Given the description of an element on the screen output the (x, y) to click on. 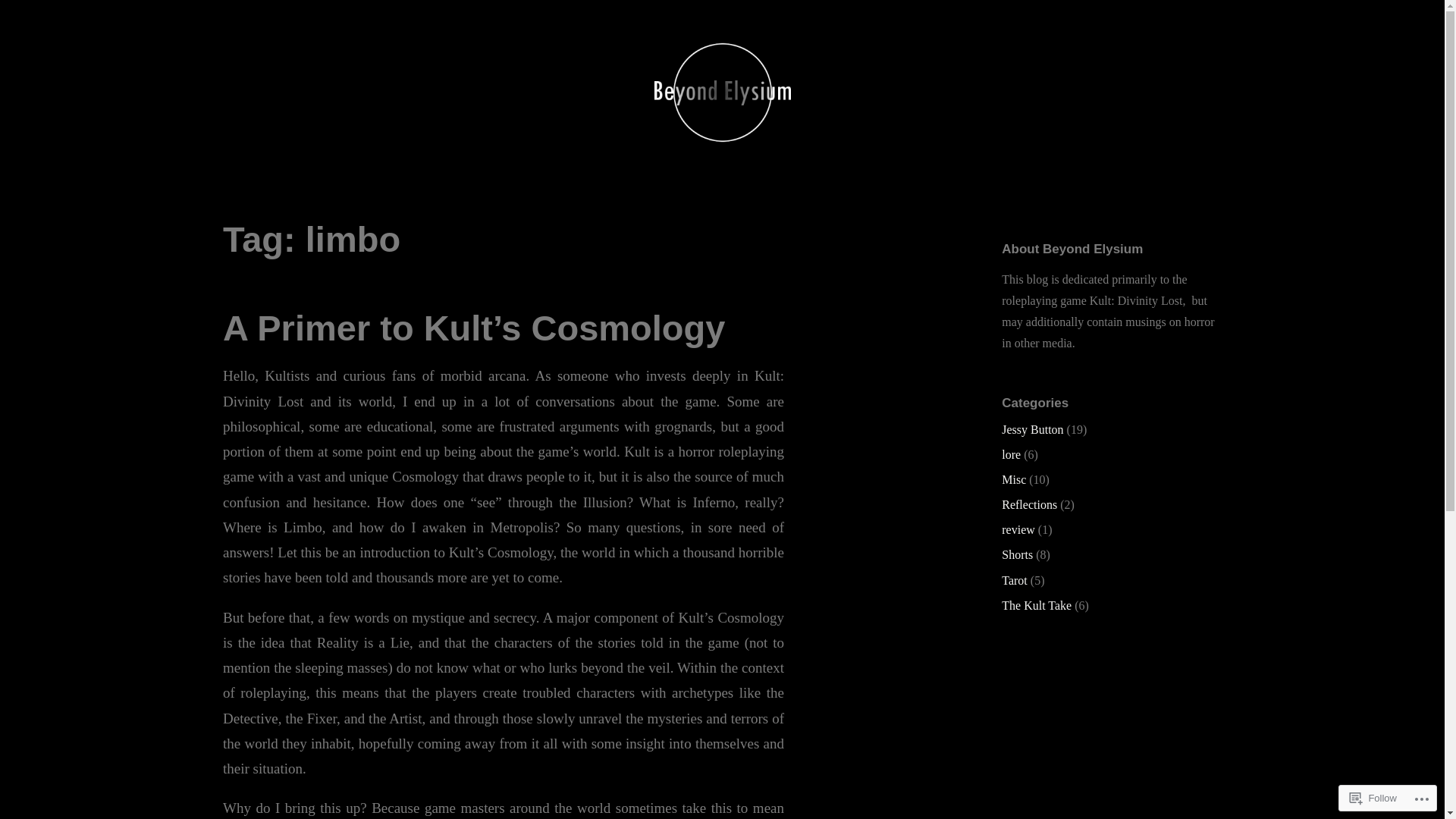
review Element type: text (1018, 529)
Shorts Element type: text (1016, 554)
Beyond Elysium Element type: text (136, 191)
The Kult Take Element type: text (1036, 605)
Jessy Button Element type: text (1032, 429)
lore Element type: text (1010, 454)
Follow Element type: text (1372, 797)
Tarot Element type: text (1014, 580)
Reflections Element type: text (1029, 504)
Misc Element type: text (1013, 479)
